Given the description of an element on the screen output the (x, y) to click on. 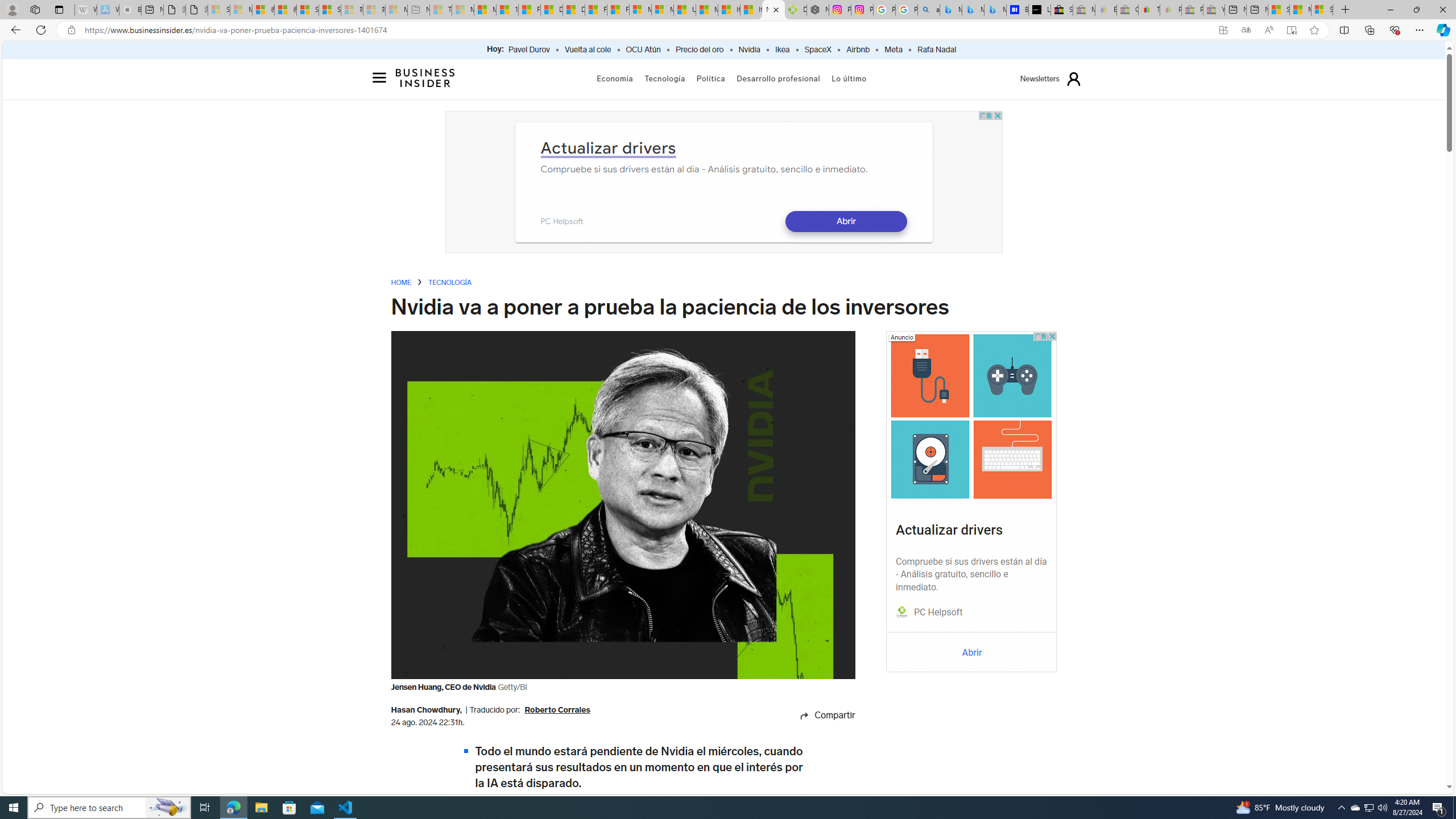
US Heat Deaths Soared To Record High Last Year (684, 9)
Logo BusinessInsider.es (425, 78)
Nvidia va a poner a prueba la paciencia de los inversores (773, 9)
Nvidia (749, 49)
